Given the description of an element on the screen output the (x, y) to click on. 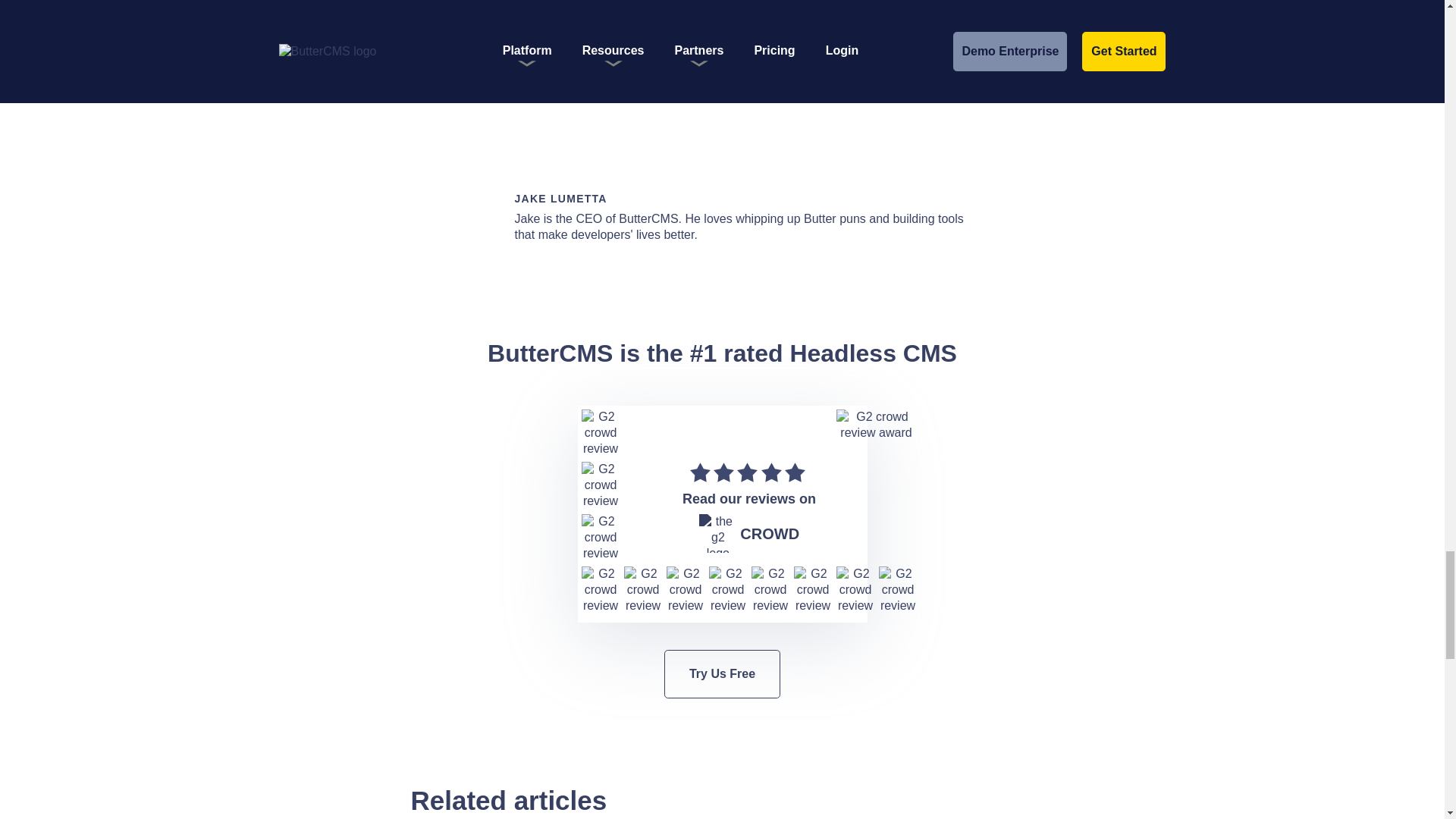
Subscribe (833, 47)
